Given the description of an element on the screen output the (x, y) to click on. 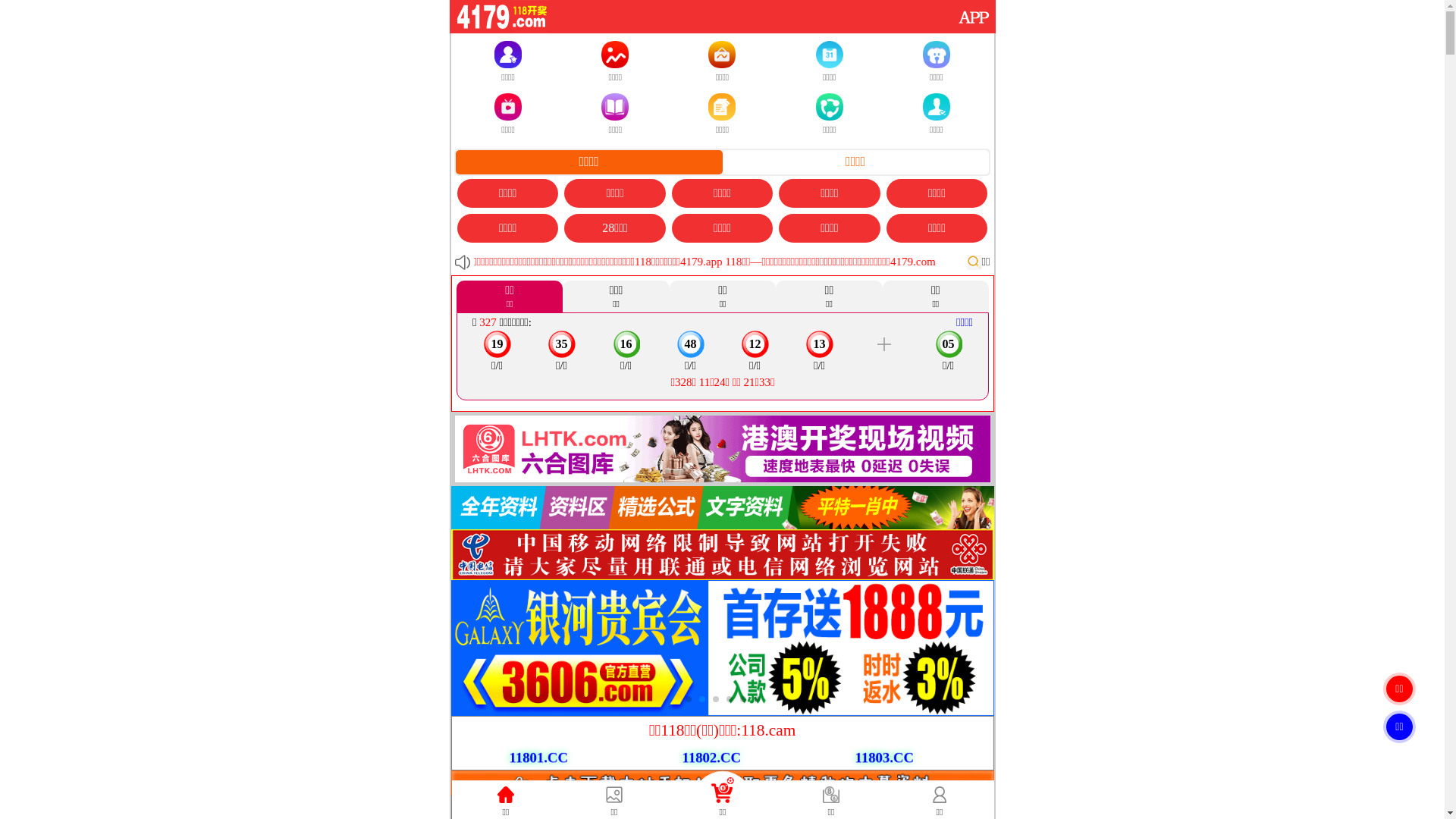
11802.CC Element type: text (710, 757)
11801.CC Element type: text (537, 757)
11803.CC Element type: text (881, 756)
